Given the description of an element on the screen output the (x, y) to click on. 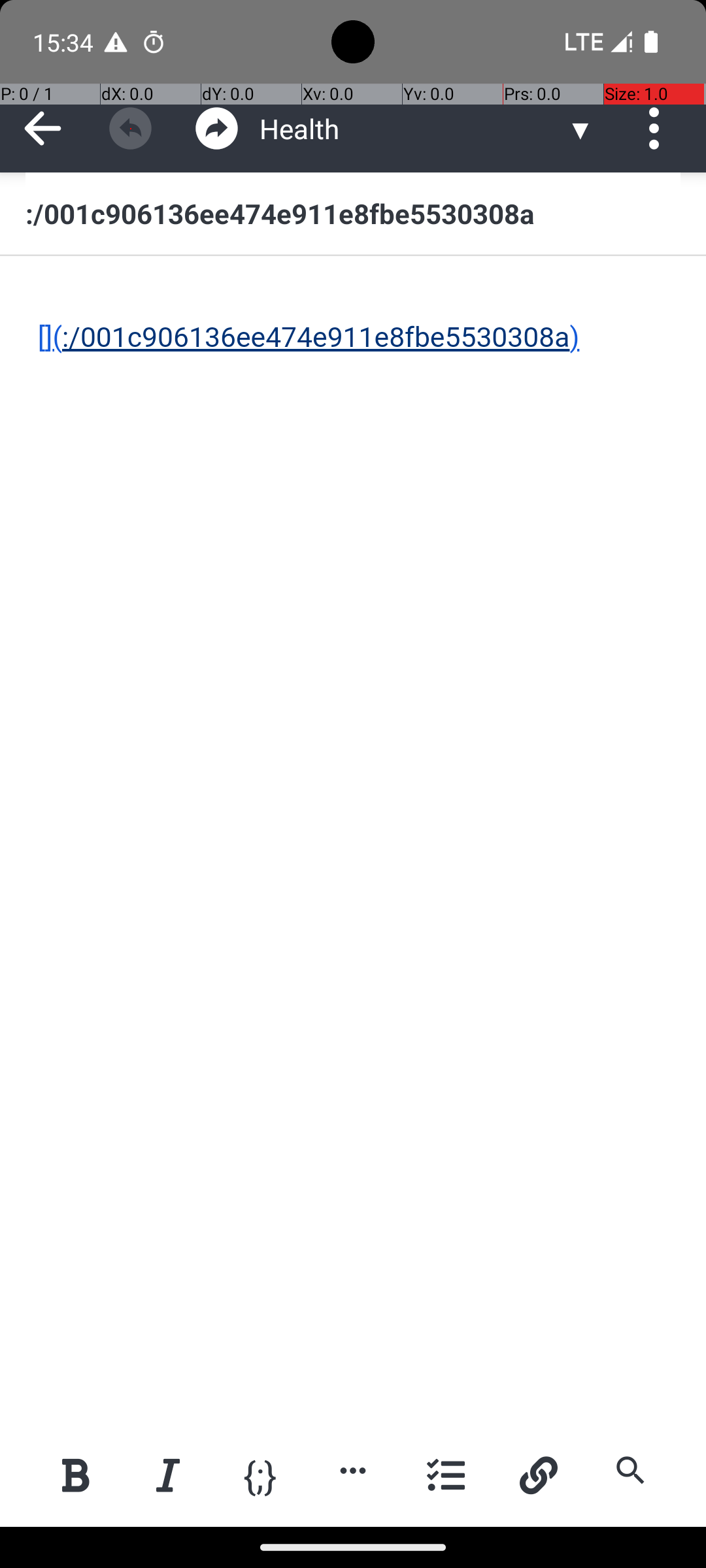
:/001c906136ee474e911e8fbe5530308a Element type: android.widget.EditText (352, 213)
 Element type: android.widget.TextView (130, 127)
 Element type: android.widget.TextView (216, 127)

[](:/001c906136ee474e911e8fbe5530308a) Element type: android.widget.EditText (354, 318)
